Given the description of an element on the screen output the (x, y) to click on. 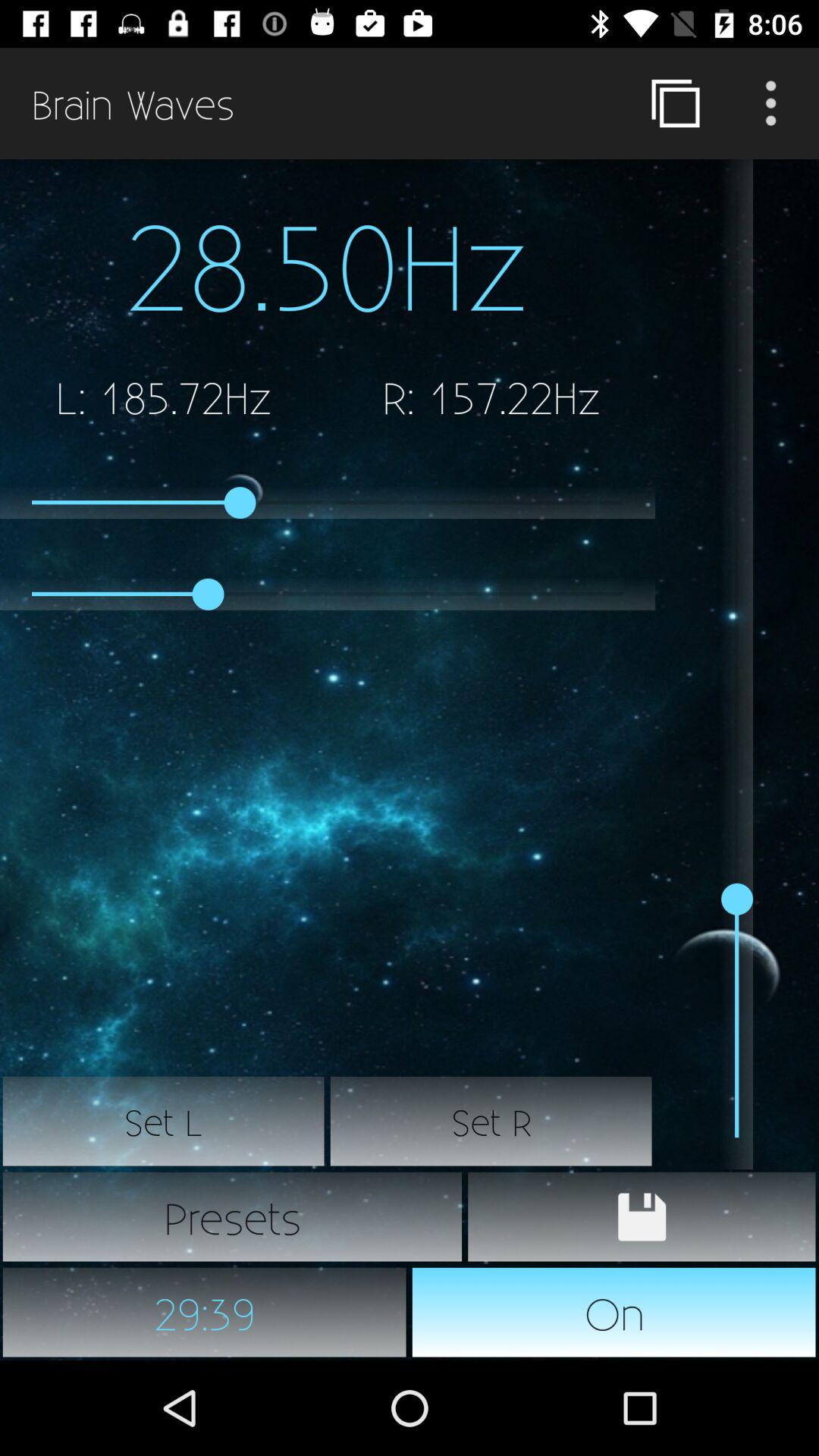
save current settings (642, 1216)
